Given the description of an element on the screen output the (x, y) to click on. 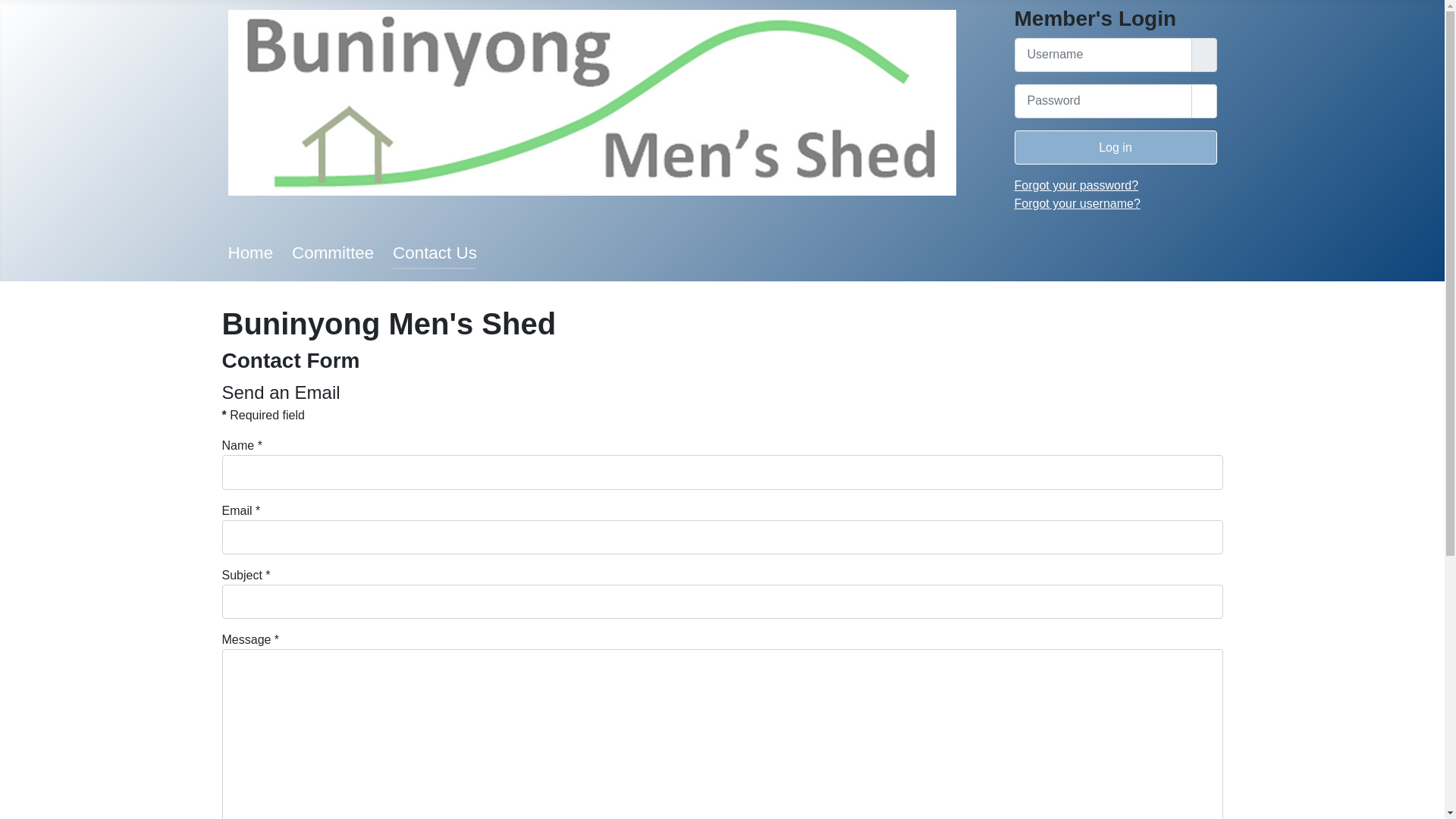
Forgot your username? Element type: text (1077, 203)
Show Password Element type: text (1203, 101)
Username Element type: hover (1203, 54)
Home Element type: text (250, 252)
Committee Element type: text (332, 252)
Forgot your password? Element type: text (1076, 184)
Contact Us Element type: text (434, 252)
Log in Element type: text (1115, 147)
